Given the description of an element on the screen output the (x, y) to click on. 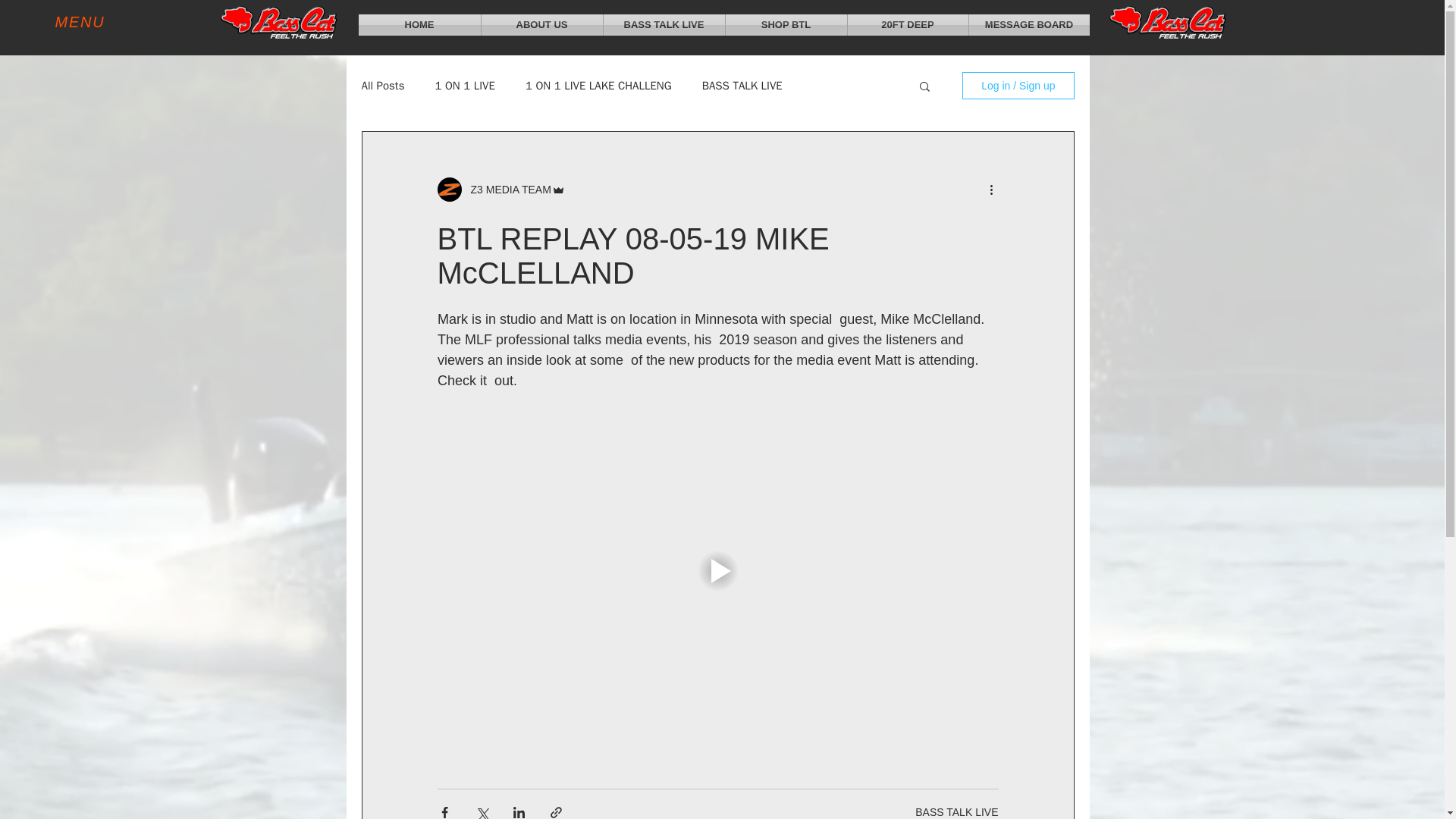
All Posts (382, 85)
1 ON 1 LIVE (464, 85)
ABOUT US (541, 25)
BASS TALK LIVE (664, 25)
SHOP BTL (785, 25)
MESSAGE BOARD (1029, 25)
HOME (419, 25)
BASS TALK LIVE (956, 811)
Z3 MEDIA TEAM (500, 189)
1 ON 1 LIVE LAKE CHALLENG (598, 85)
